Given the description of an element on the screen output the (x, y) to click on. 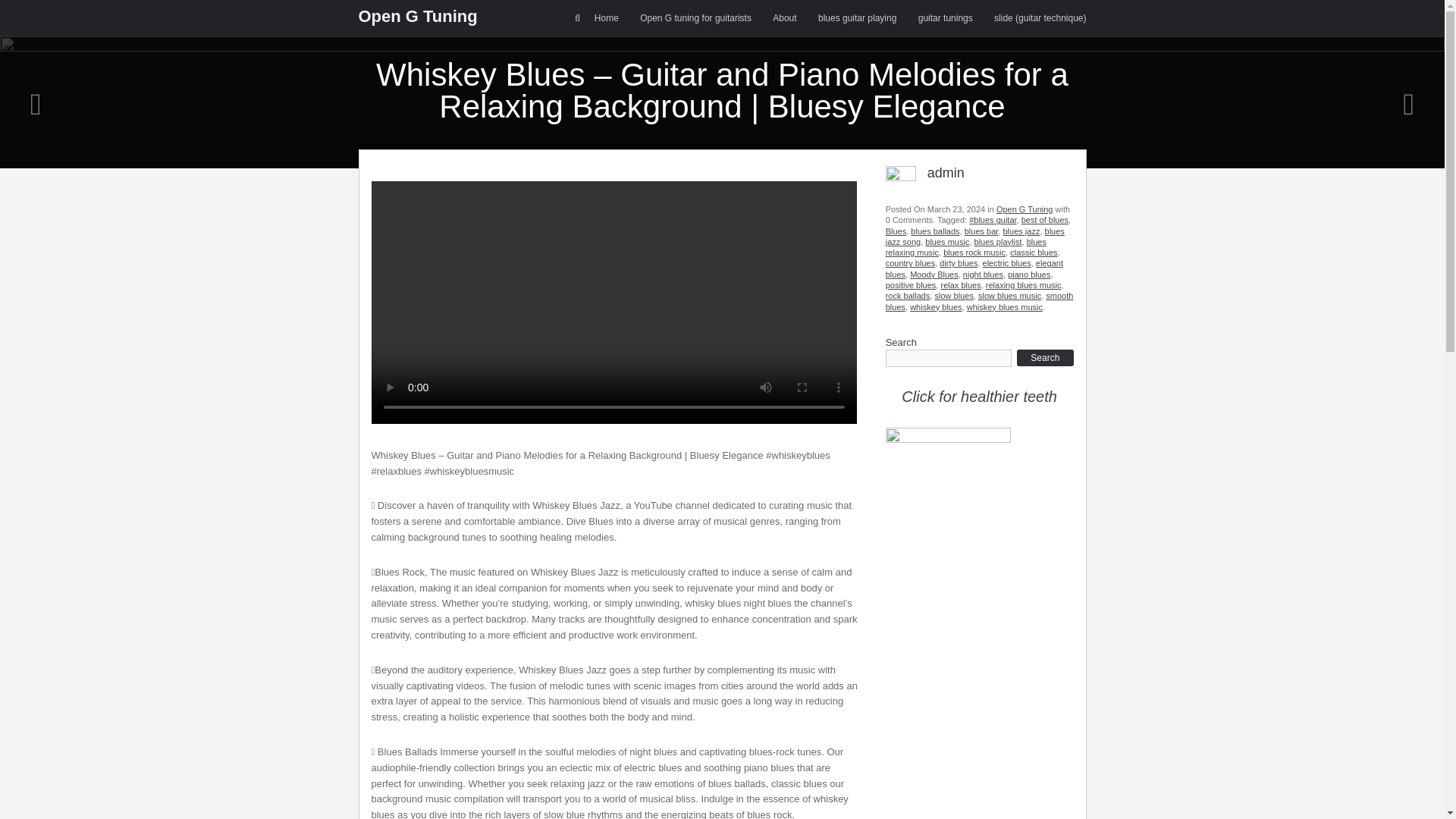
blues guitar playing (857, 18)
Open G tuning for guitarists (695, 18)
Search (42, 15)
electric blues (1006, 262)
night blues (982, 274)
blues relaxing music (965, 247)
blues bar (980, 230)
Skip to content (594, 7)
Moody Blues (934, 274)
blues playlist (998, 241)
Search (1044, 357)
Open G Tuning (417, 15)
guitar tunings (945, 18)
blues ballads (935, 230)
best of blues (1045, 219)
